Given the description of an element on the screen output the (x, y) to click on. 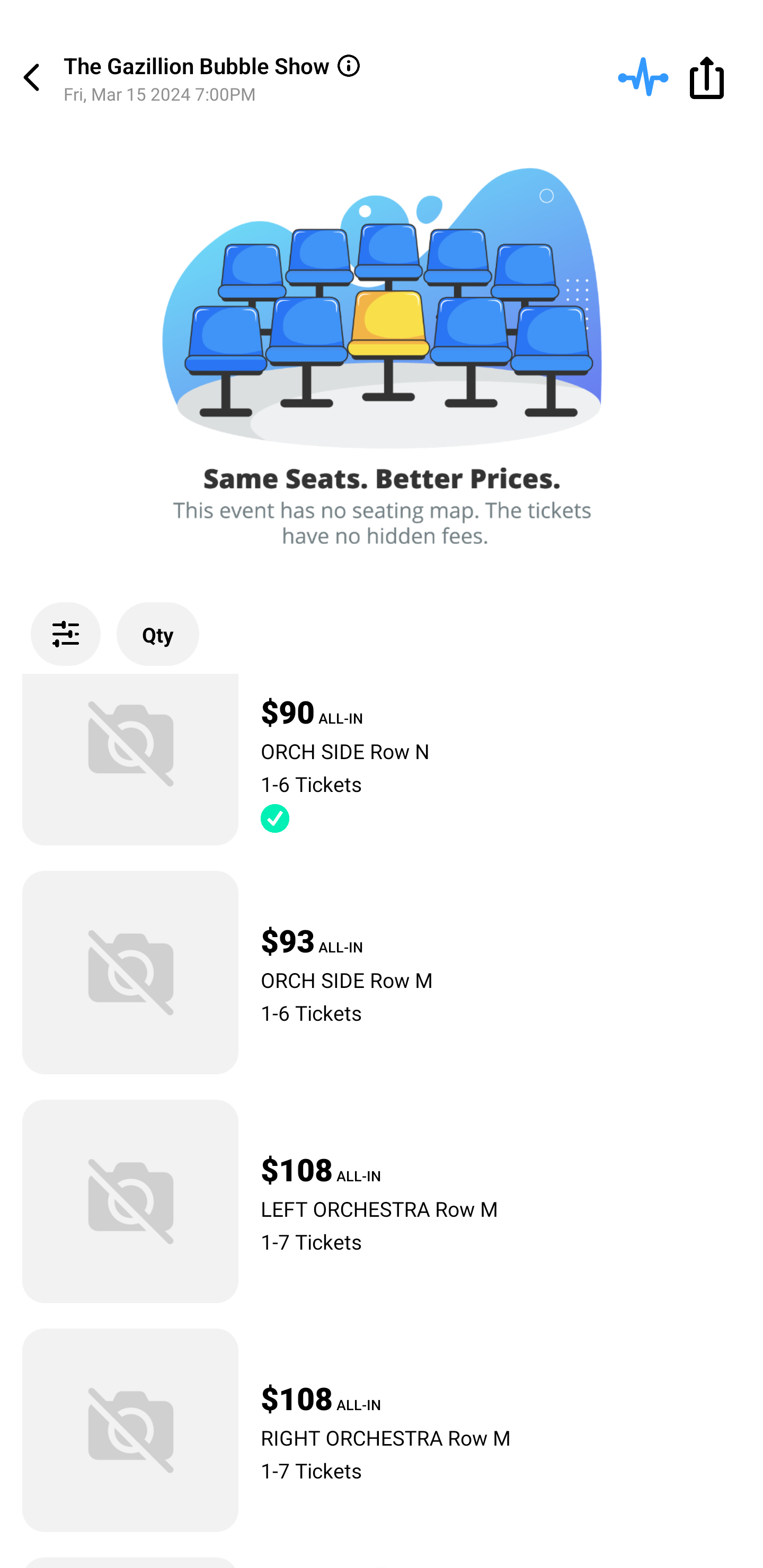
Qty (157, 634)
